Given the description of an element on the screen output the (x, y) to click on. 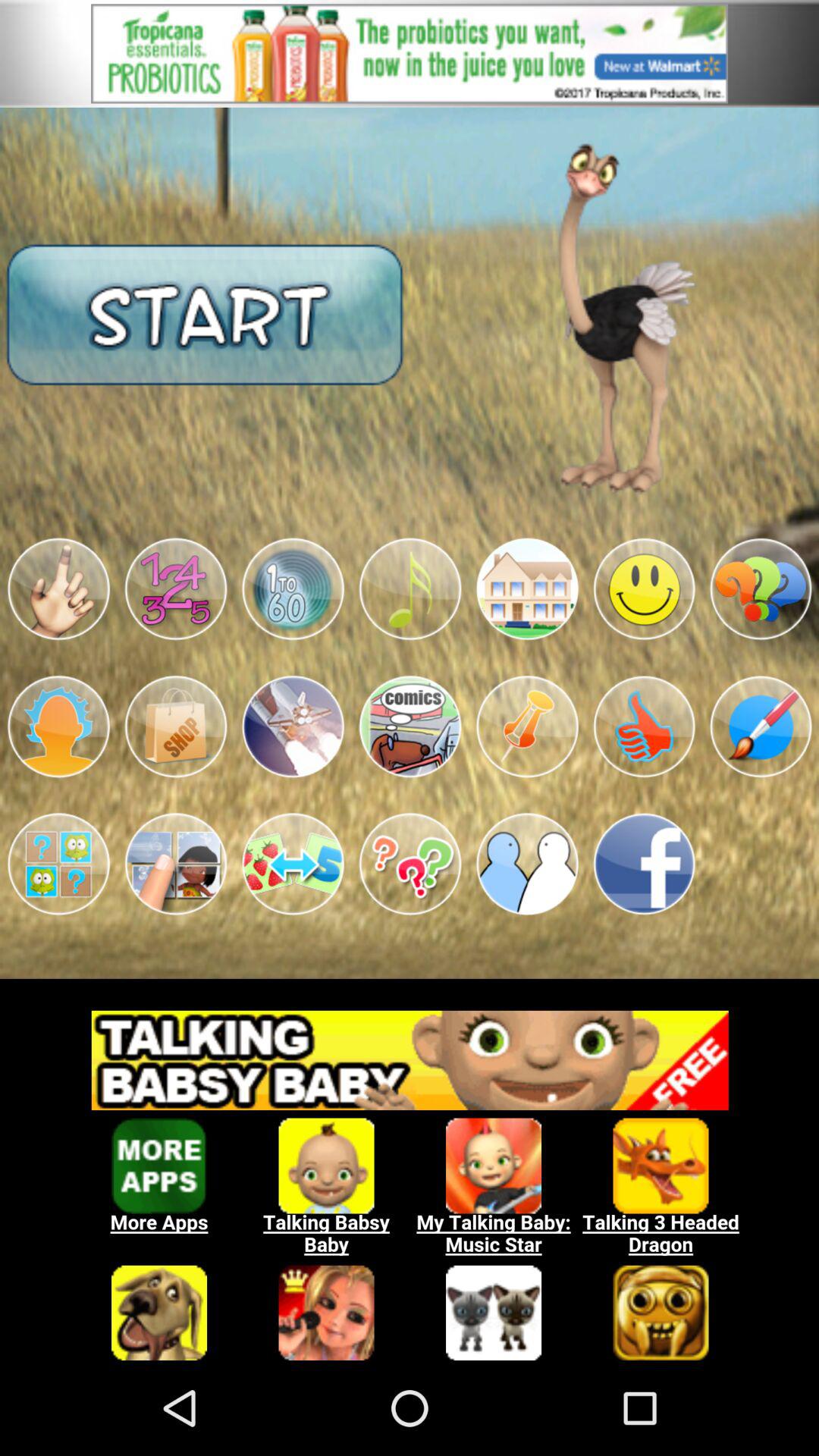
music (409, 589)
